Given the description of an element on the screen output the (x, y) to click on. 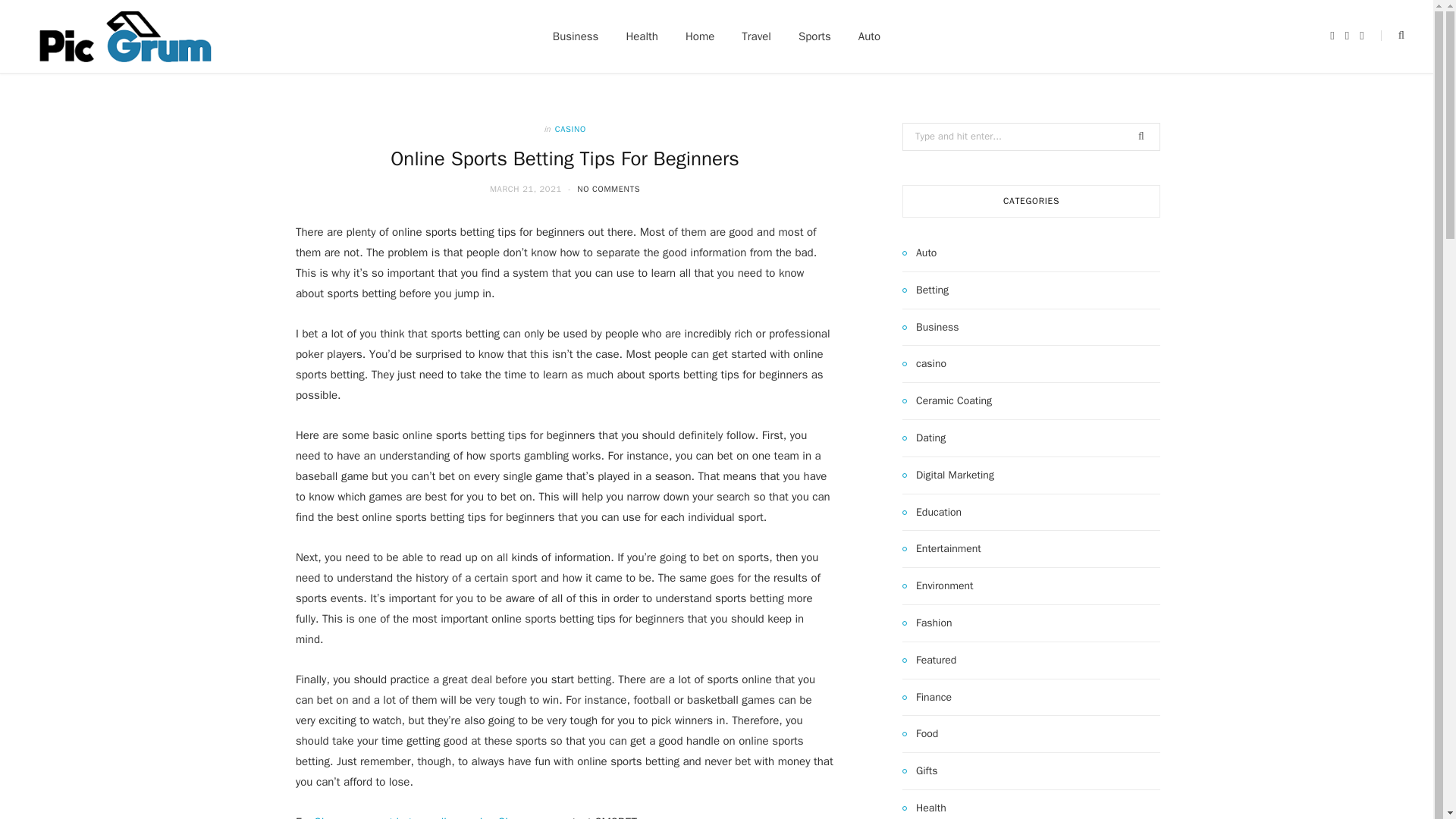
NO COMMENTS (608, 188)
Picgrum (124, 36)
CASINO (570, 128)
online casino Singapore (488, 816)
MARCH 21, 2021 (526, 188)
Betting (925, 290)
Business (930, 327)
Business (575, 36)
Singapore sport bet (363, 816)
casino (924, 363)
Auto (919, 253)
Search for: (1031, 136)
